Given the description of an element on the screen output the (x, y) to click on. 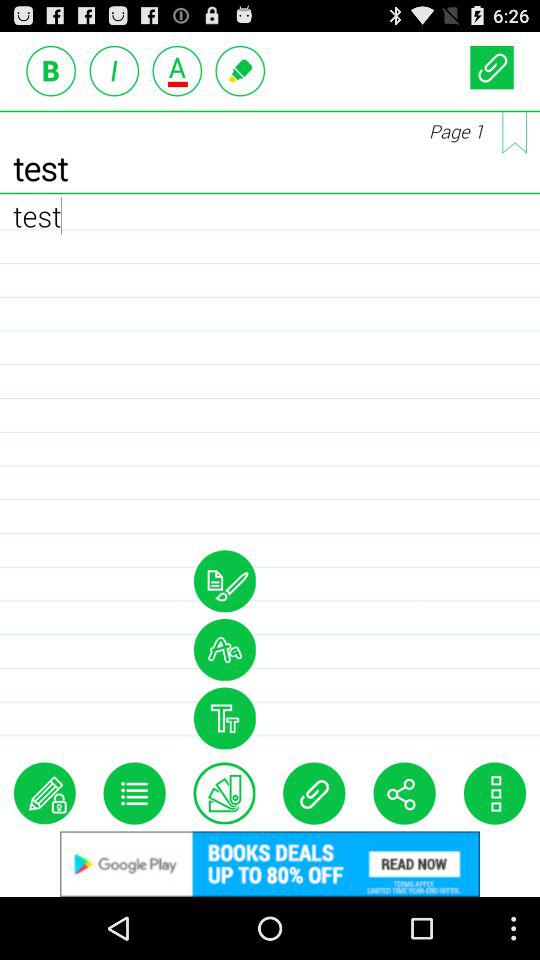
bold option (51, 70)
